Given the description of an element on the screen output the (x, y) to click on. 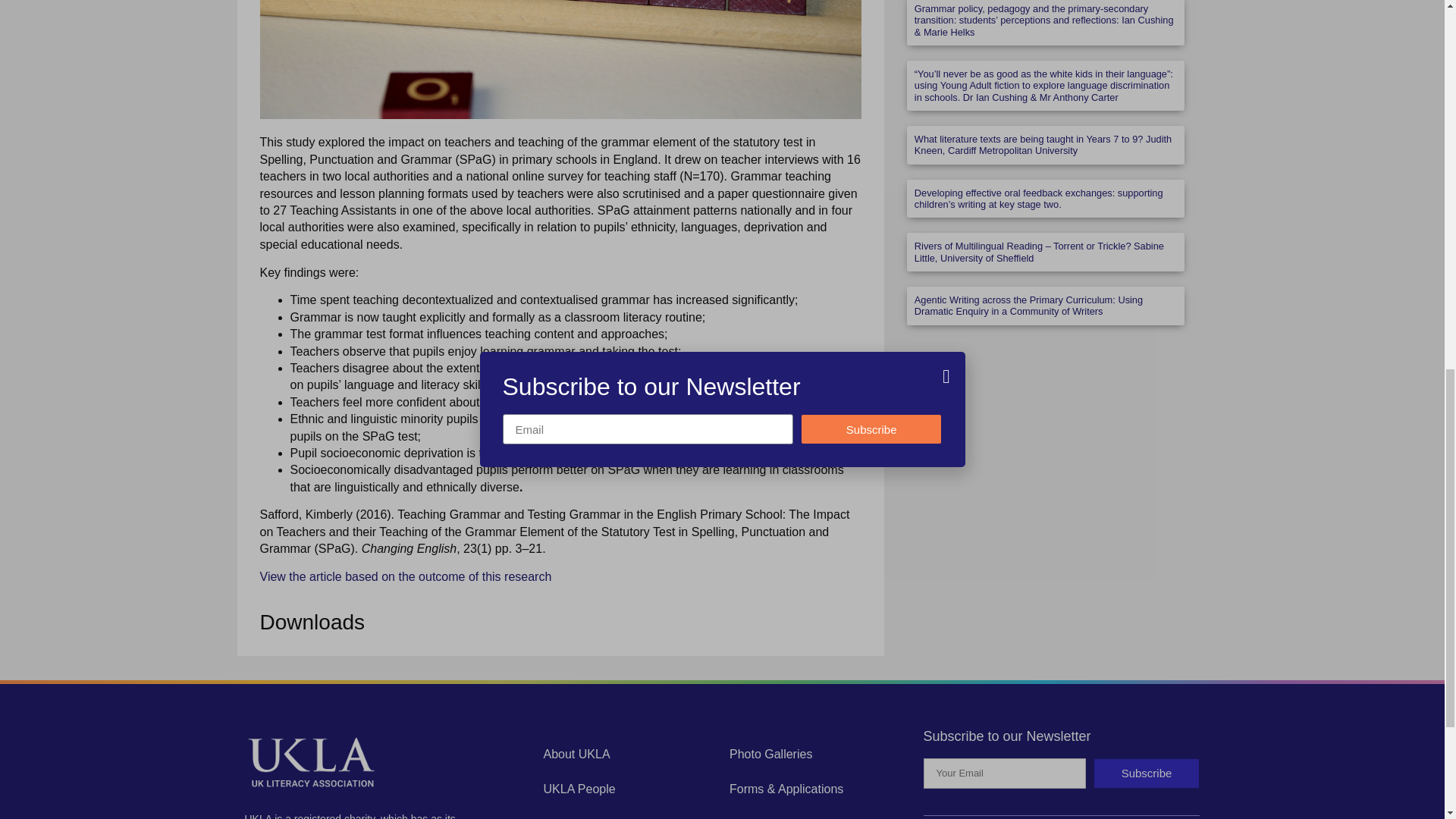
View the article based on the outcome of this research (405, 576)
